Given the description of an element on the screen output the (x, y) to click on. 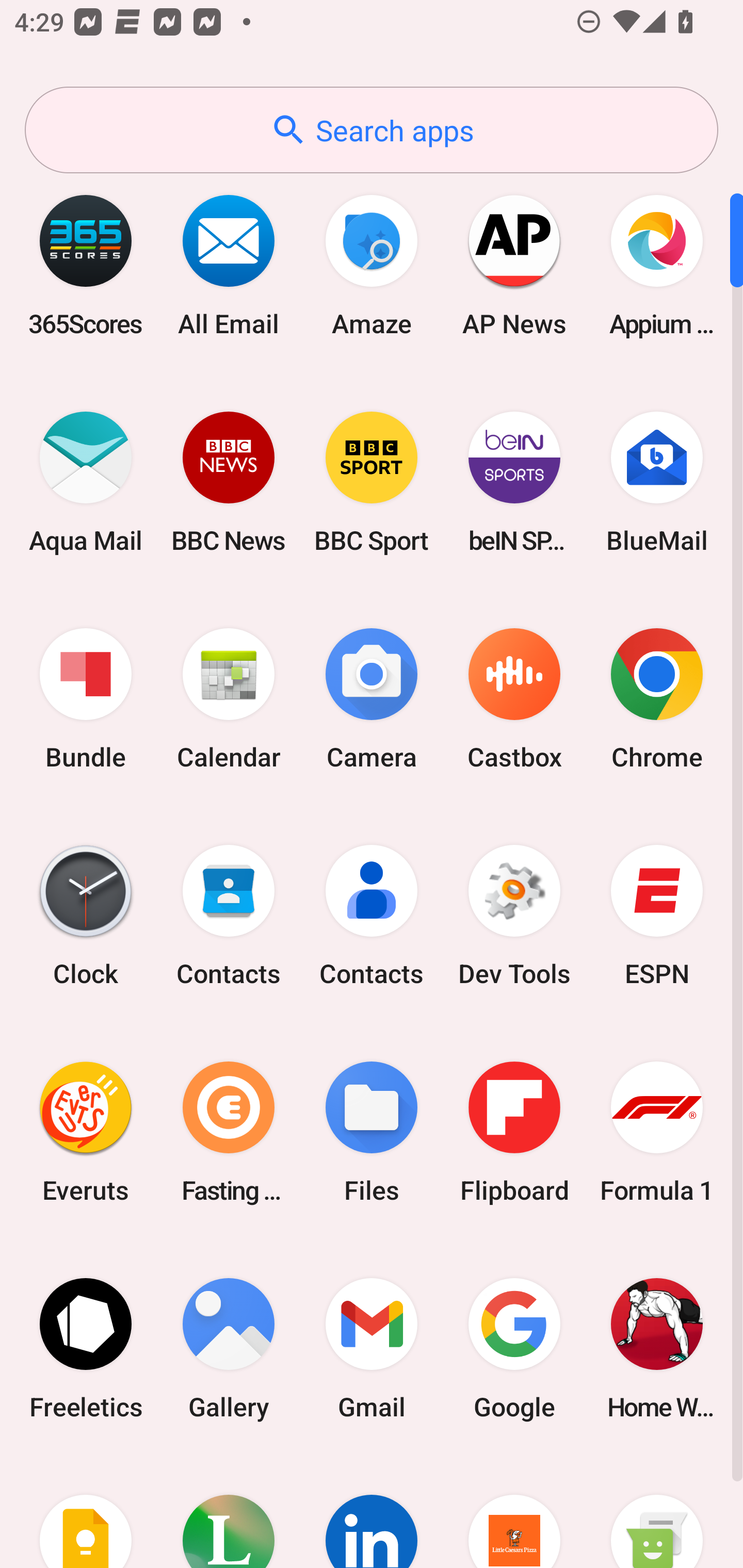
  Search apps (371, 130)
365Scores (85, 264)
All Email (228, 264)
Amaze (371, 264)
AP News (514, 264)
Appium Settings (656, 264)
Aqua Mail (85, 482)
BBC News (228, 482)
BBC Sport (371, 482)
beIN SPORTS (514, 482)
BlueMail (656, 482)
Bundle (85, 699)
Calendar (228, 699)
Camera (371, 699)
Castbox (514, 699)
Chrome (656, 699)
Clock (85, 915)
Contacts (228, 915)
Contacts (371, 915)
Dev Tools (514, 915)
ESPN (656, 915)
Everuts (85, 1131)
Fasting Coach (228, 1131)
Files (371, 1131)
Flipboard (514, 1131)
Formula 1 (656, 1131)
Freeletics (85, 1348)
Gallery (228, 1348)
Gmail (371, 1348)
Google (514, 1348)
Home Workout (656, 1348)
Keep Notes (85, 1512)
Lifesum (228, 1512)
LinkedIn (371, 1512)
Little Caesars Pizza (514, 1512)
Messaging (656, 1512)
